Given the description of an element on the screen output the (x, y) to click on. 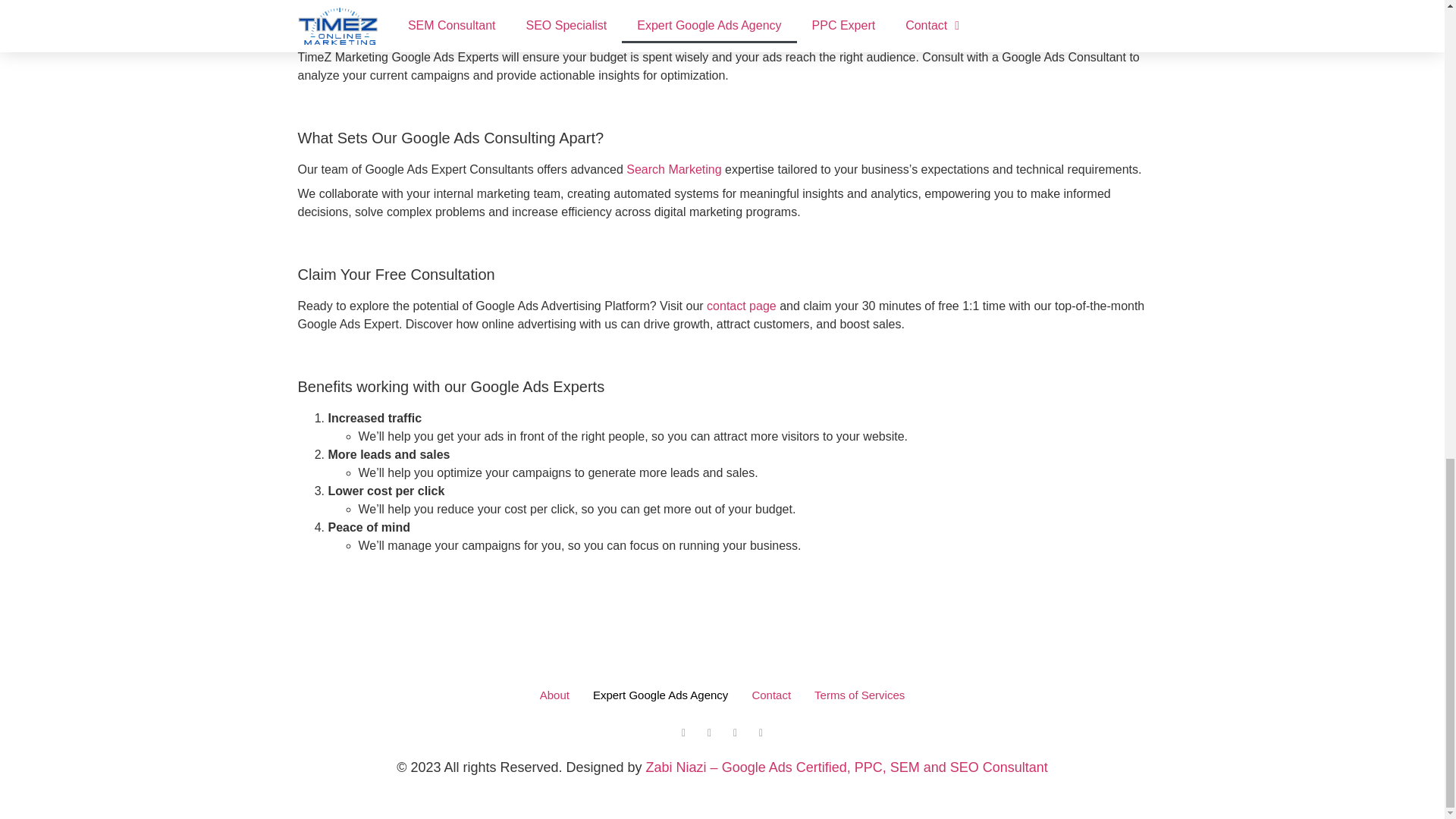
Terms of Services (858, 695)
contact page (741, 305)
Contact (770, 695)
Search Marketing (673, 169)
Expert Google Ads Agency (660, 695)
